Given the description of an element on the screen output the (x, y) to click on. 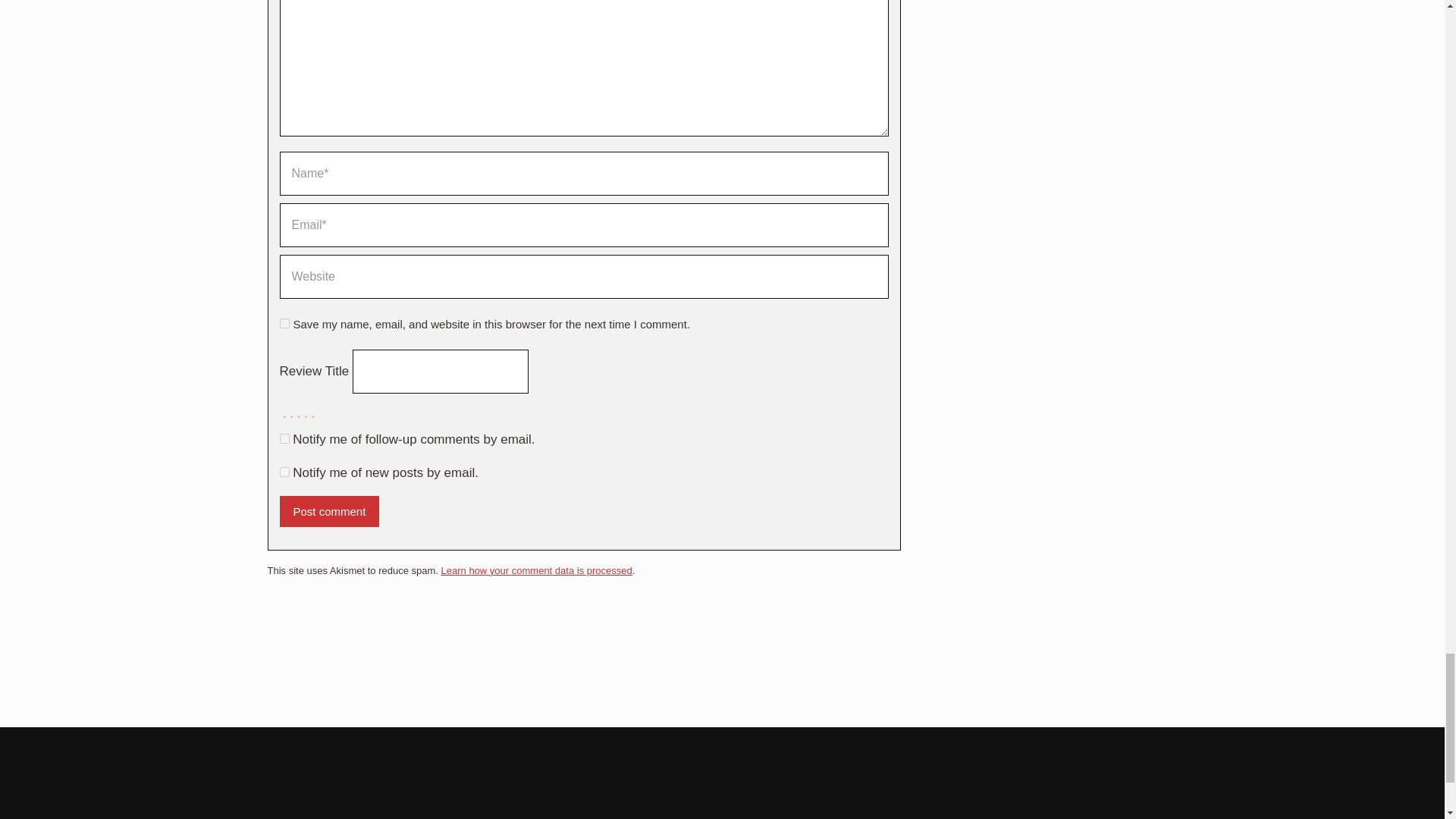
subscribe (283, 438)
yes (283, 323)
subscribe (283, 471)
